Given the description of an element on the screen output the (x, y) to click on. 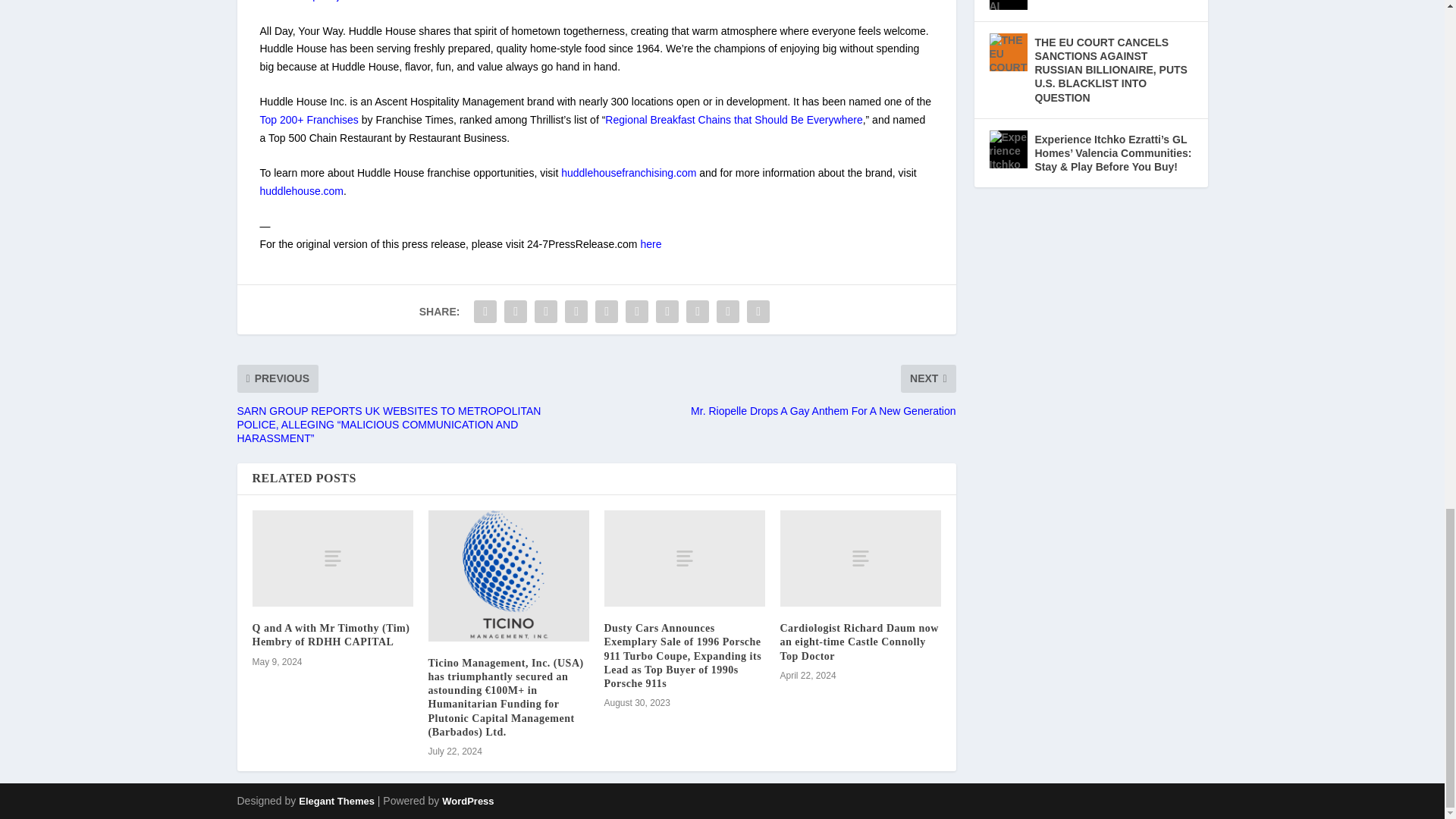
huddlehousefranchising.com (627, 173)
here (650, 244)
Regional Breakfast Chains that Should Be Everywhere (733, 119)
devBlink AI Launches (1007, 4)
www.peterjboni.com (333, 0)
huddlehouse.com (301, 191)
